Given the description of an element on the screen output the (x, y) to click on. 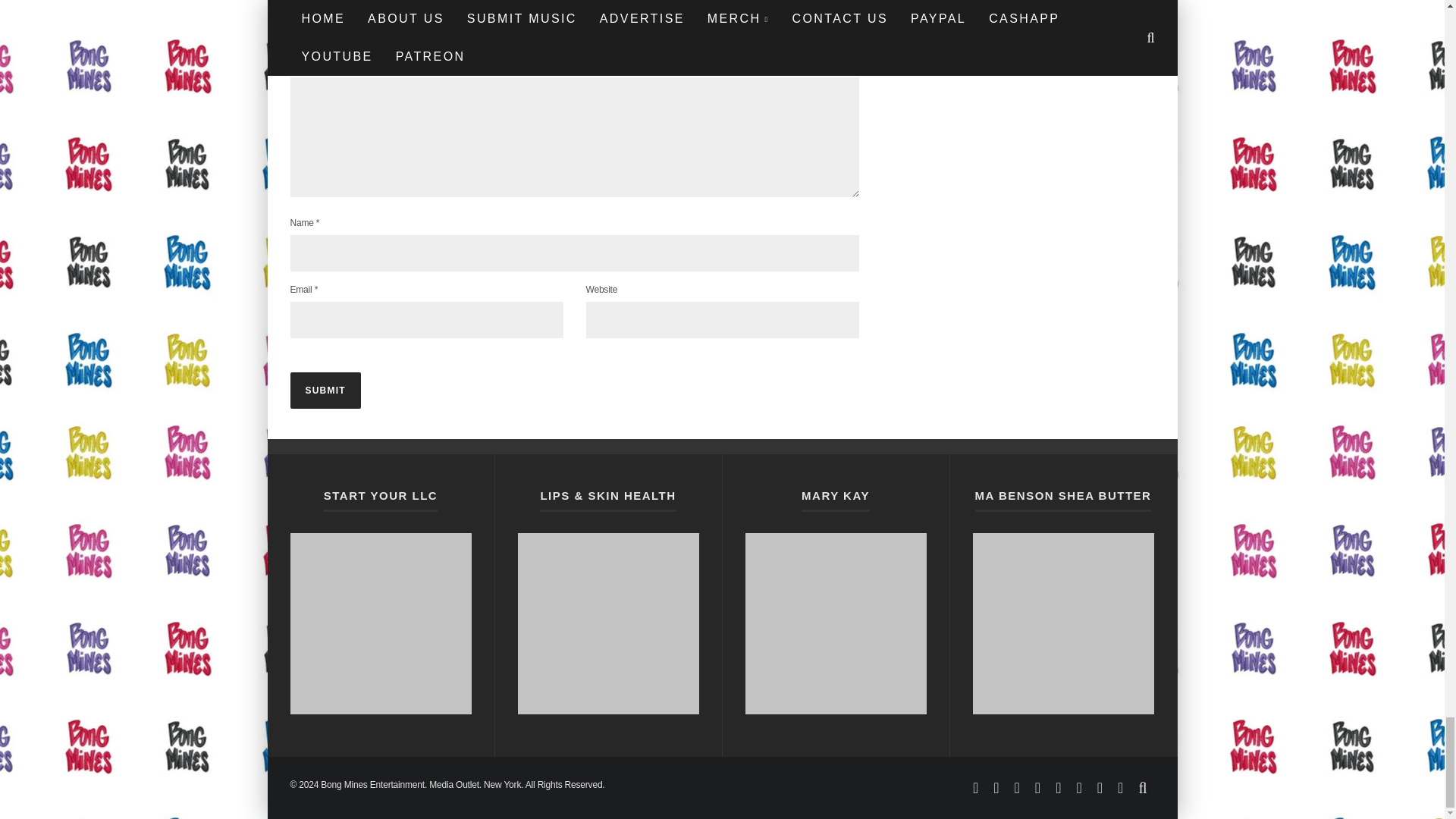
Ma Benson Shea BUtter (1062, 623)
Pineapple In da SUN Spotify playlist (379, 623)
Submit (324, 390)
Take a Look... Audiobook (835, 623)
